Given the description of an element on the screen output the (x, y) to click on. 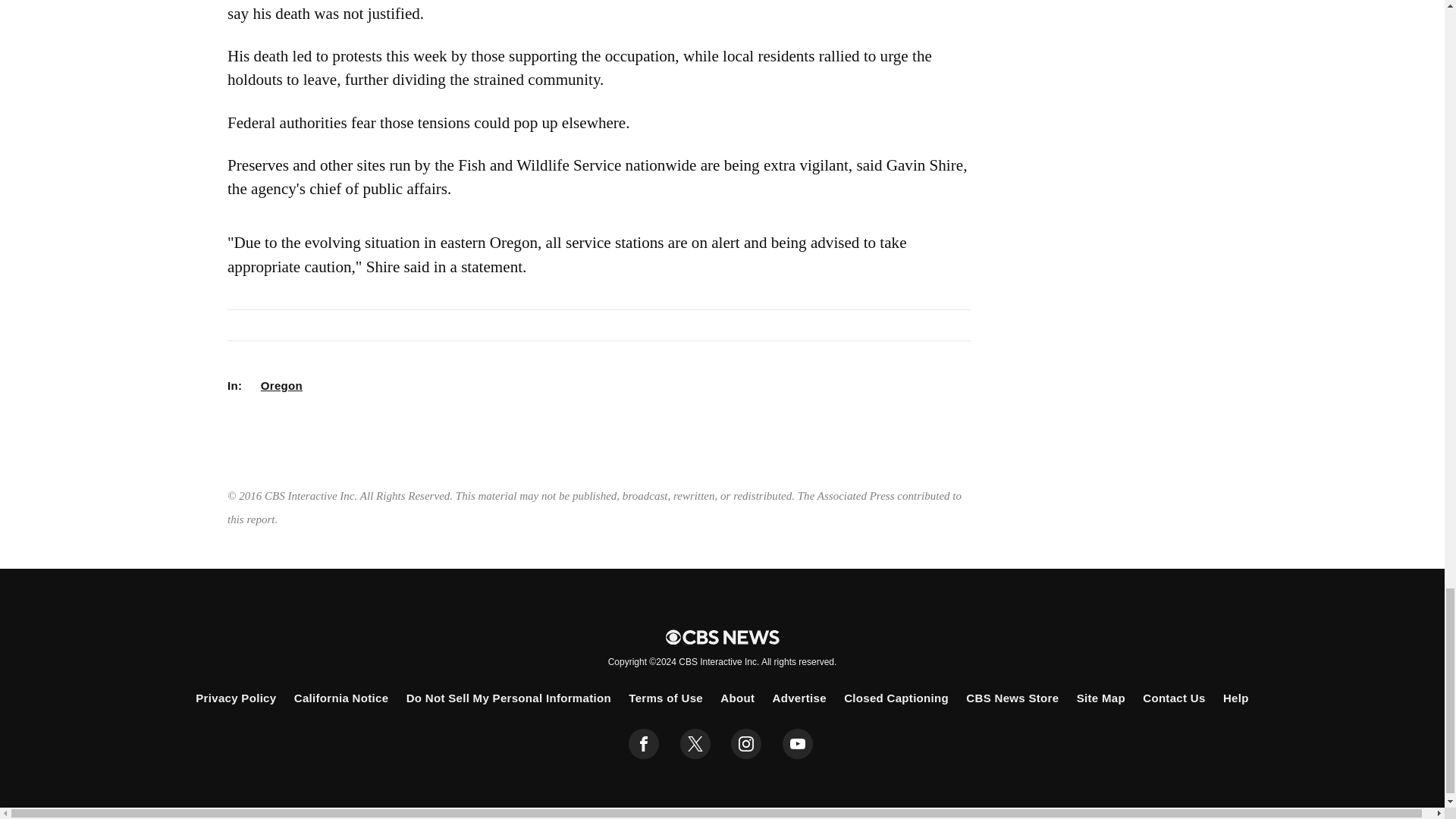
instagram (745, 743)
twitter (694, 743)
youtube (797, 743)
facebook (643, 743)
